Given the description of an element on the screen output the (x, y) to click on. 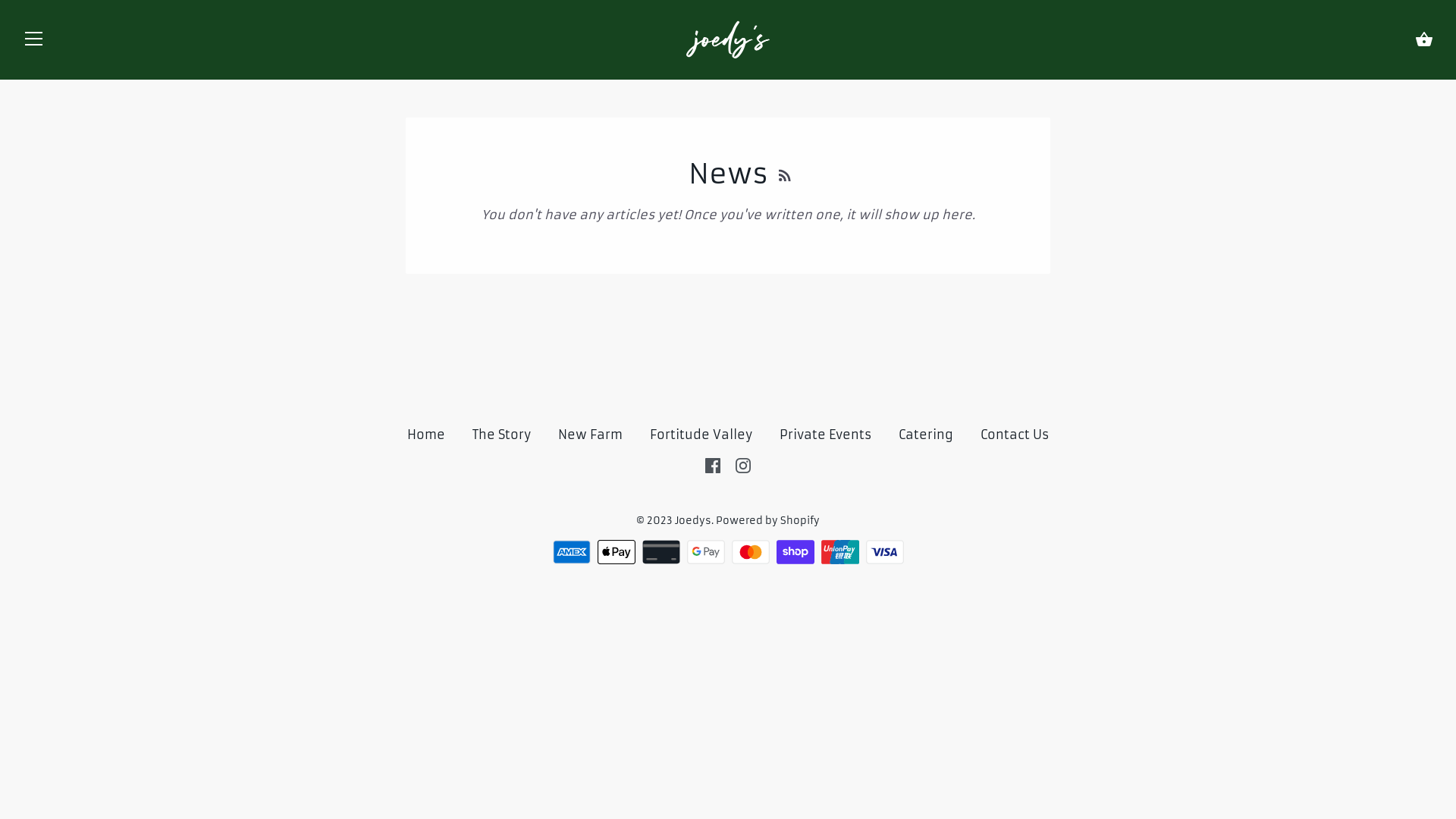
Facebook Element type: text (712, 464)
Home Element type: text (426, 434)
Cart Element type: text (1424, 39)
New Farm Element type: text (590, 434)
Private Events Element type: text (826, 434)
Contact Us Element type: text (1014, 434)
Powered by Shopify Element type: text (767, 520)
Joedys Element type: text (692, 520)
Catering Element type: text (925, 434)
Instagram Element type: text (742, 464)
Fortitude Valley Element type: text (700, 434)
News RSS Element type: hover (784, 173)
The Story Element type: text (501, 434)
